Given the description of an element on the screen output the (x, y) to click on. 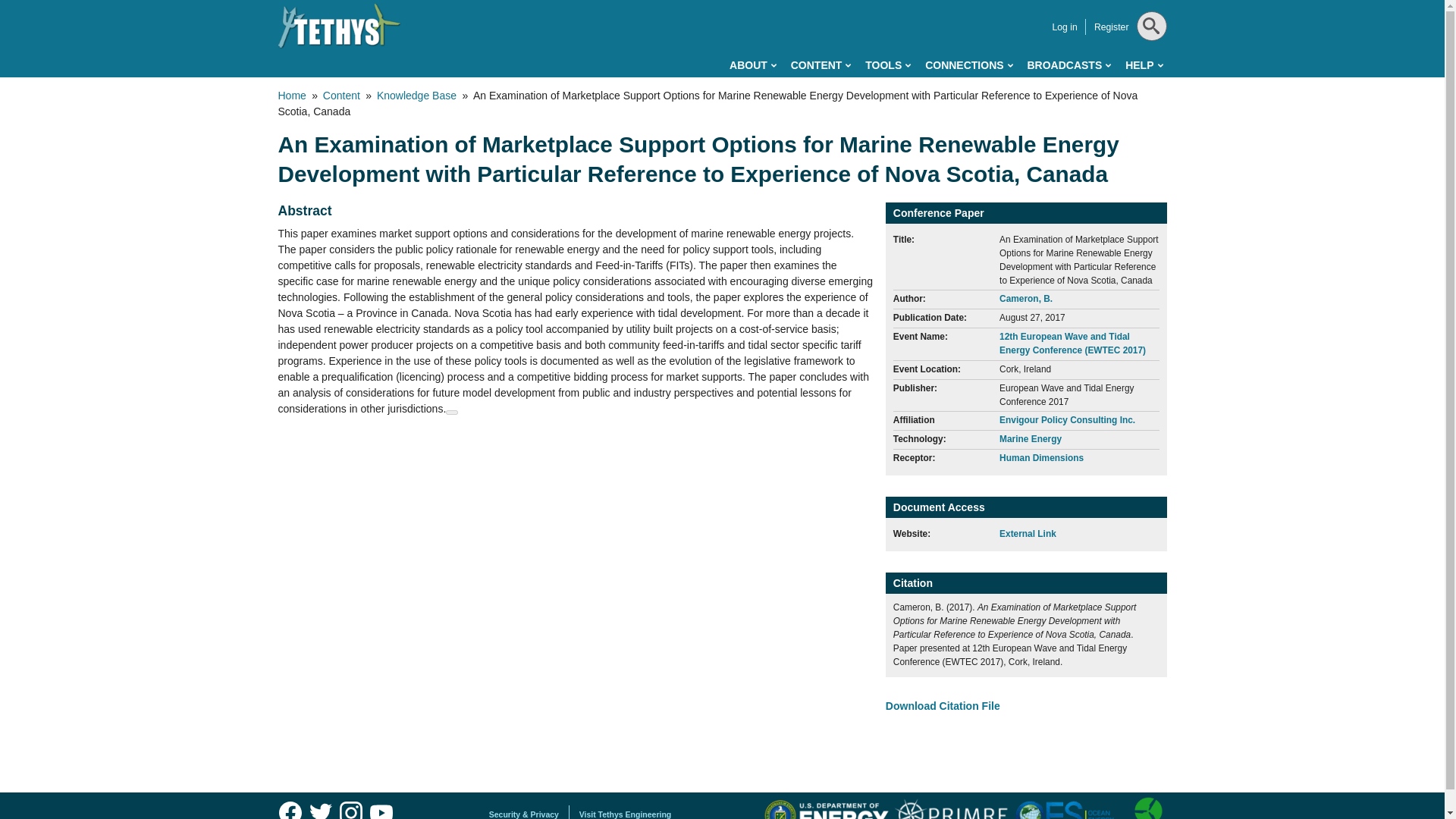
Facebook logo (290, 808)
HELP (1143, 65)
Home (339, 26)
Instagram logo (350, 808)
Twitter logo (319, 808)
Keyboard shortcuts (451, 412)
Log in (1064, 27)
CONNECTIONS (967, 65)
YouTube logo (381, 808)
Search (1148, 64)
Search (1148, 64)
BROADCASTS (1068, 65)
Skip to main content (654, 3)
CONTENT (820, 65)
